Given the description of an element on the screen output the (x, y) to click on. 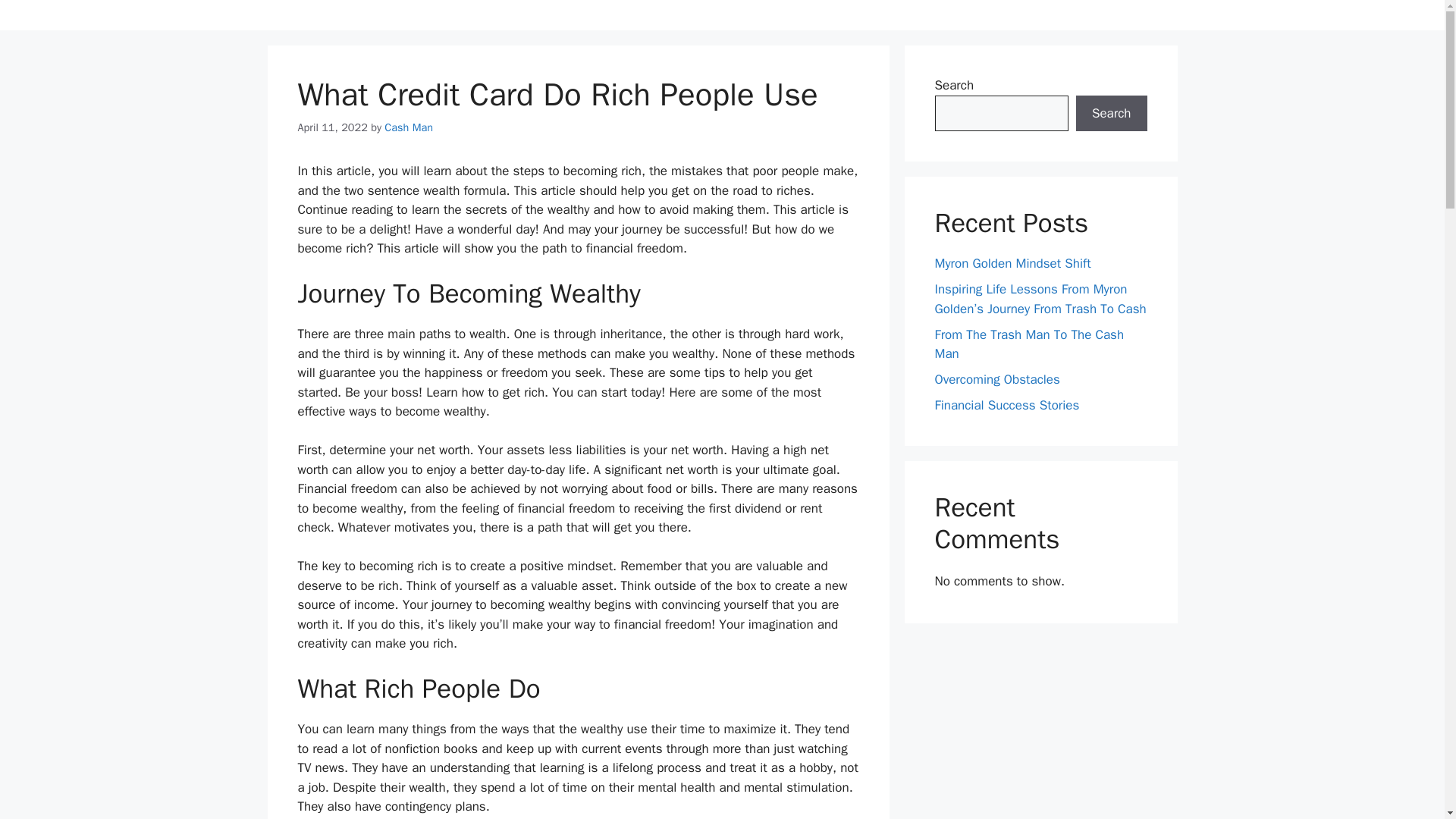
Cash Man (408, 127)
Search (1111, 113)
Financial Success Stories (1006, 405)
Overcoming Obstacles (996, 379)
From The Trash Man To The Cash Man (1029, 343)
View all posts by Cash Man (408, 127)
Myron Golden Mindset Shift (1012, 263)
